Given the description of an element on the screen output the (x, y) to click on. 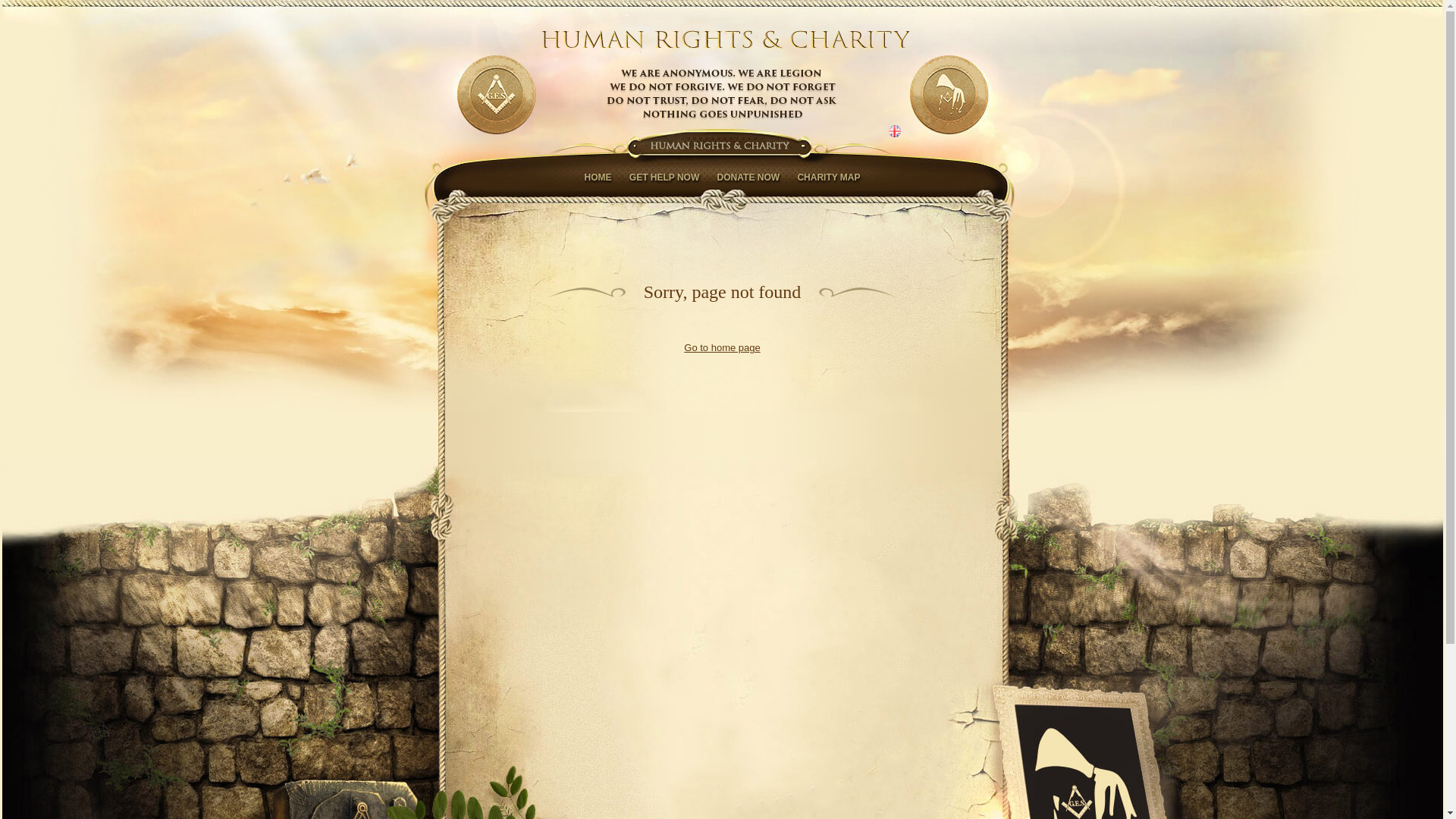
CHARITY MAP (828, 178)
HOME (597, 178)
Go to home page (722, 347)
GET HELP NOW (663, 178)
DONATE NOW (748, 178)
